Given the description of an element on the screen output the (x, y) to click on. 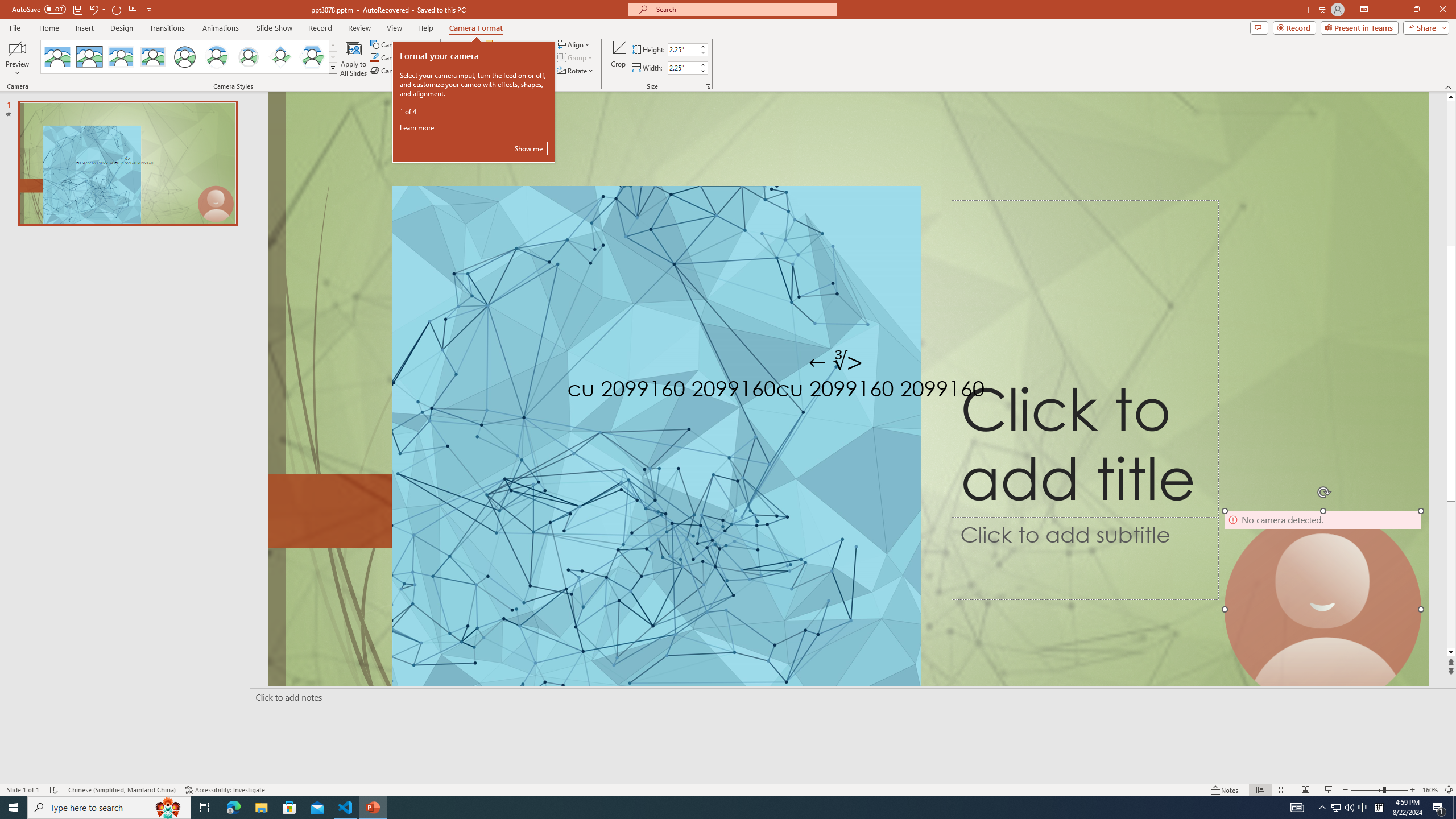
Simple Frame Circle (184, 56)
Cameo Height (682, 49)
AutomationID: CameoStylesGallery (189, 56)
